Given the description of an element on the screen output the (x, y) to click on. 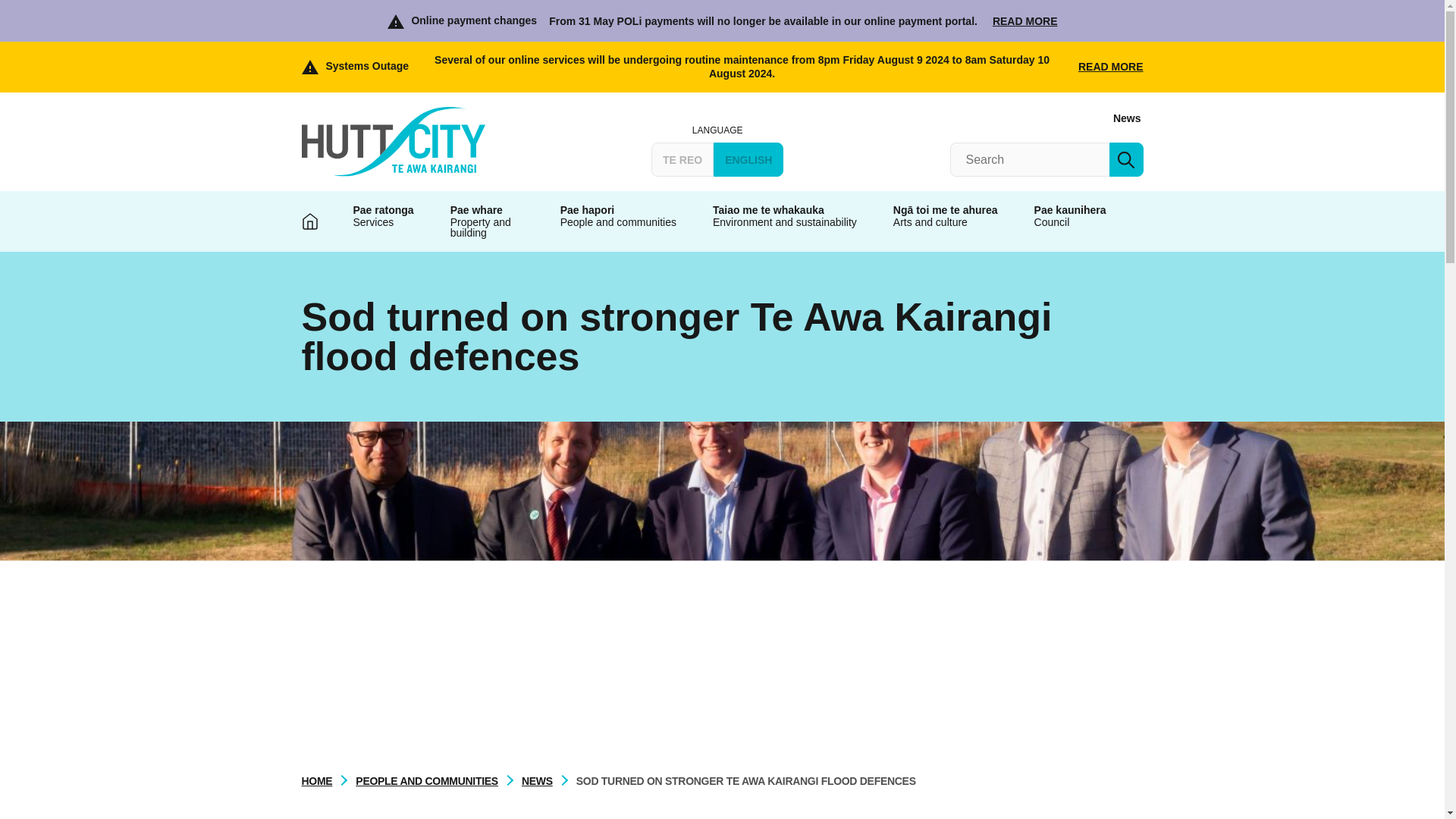
Property and building (486, 220)
ENGLISH (748, 159)
READ MORE (1110, 66)
TE REO (681, 159)
READ MORE (1025, 20)
Services (383, 220)
People and communities (617, 220)
Hutt City Council Logo (392, 141)
